Given the description of an element on the screen output the (x, y) to click on. 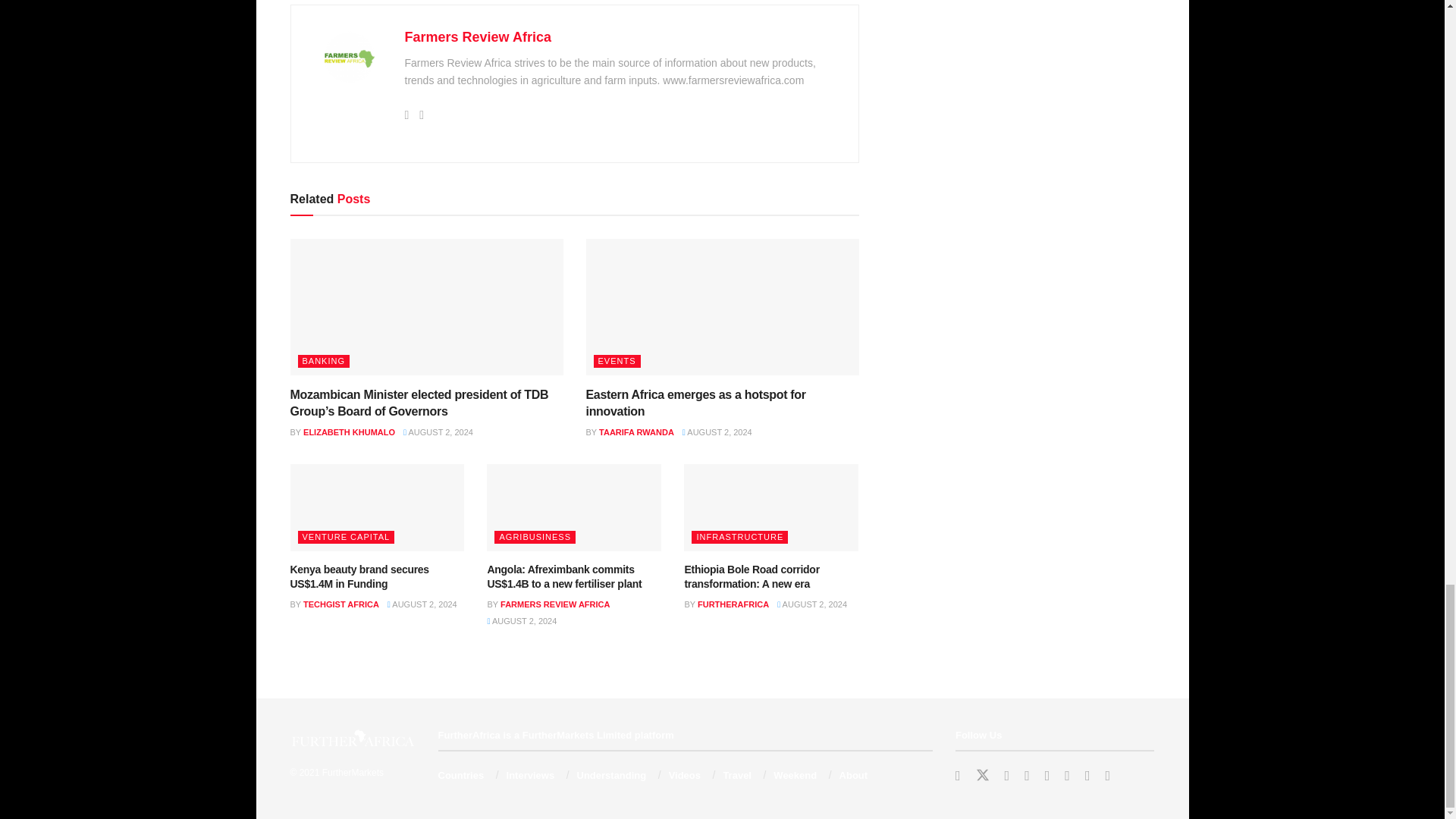
FurtherMarkets Limited (352, 772)
